Given the description of an element on the screen output the (x, y) to click on. 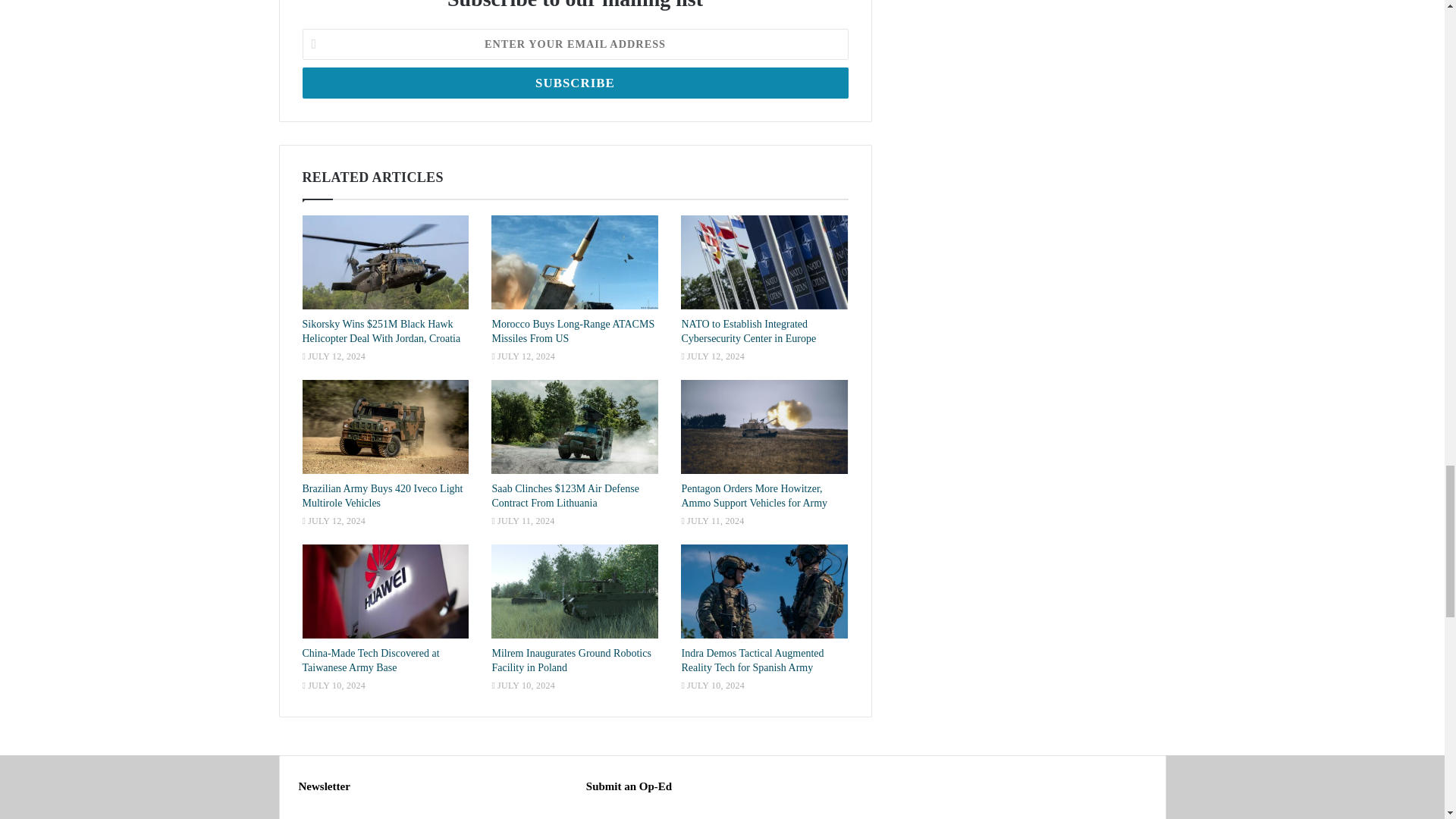
Subscribe (574, 82)
